Given the description of an element on the screen output the (x, y) to click on. 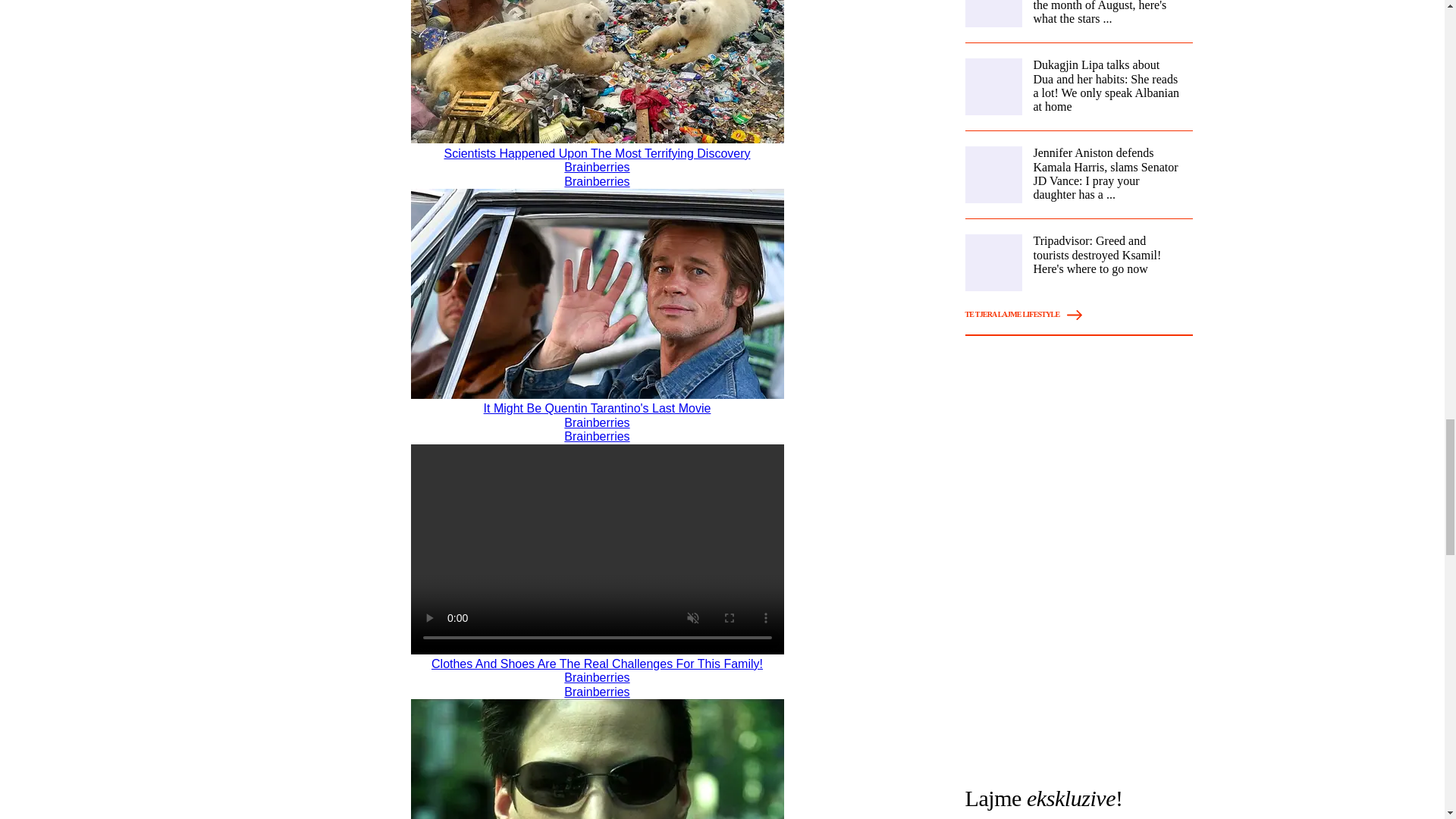
3rd party ad content (1077, 665)
3rd party ad content (1077, 452)
